Given the description of an element on the screen output the (x, y) to click on. 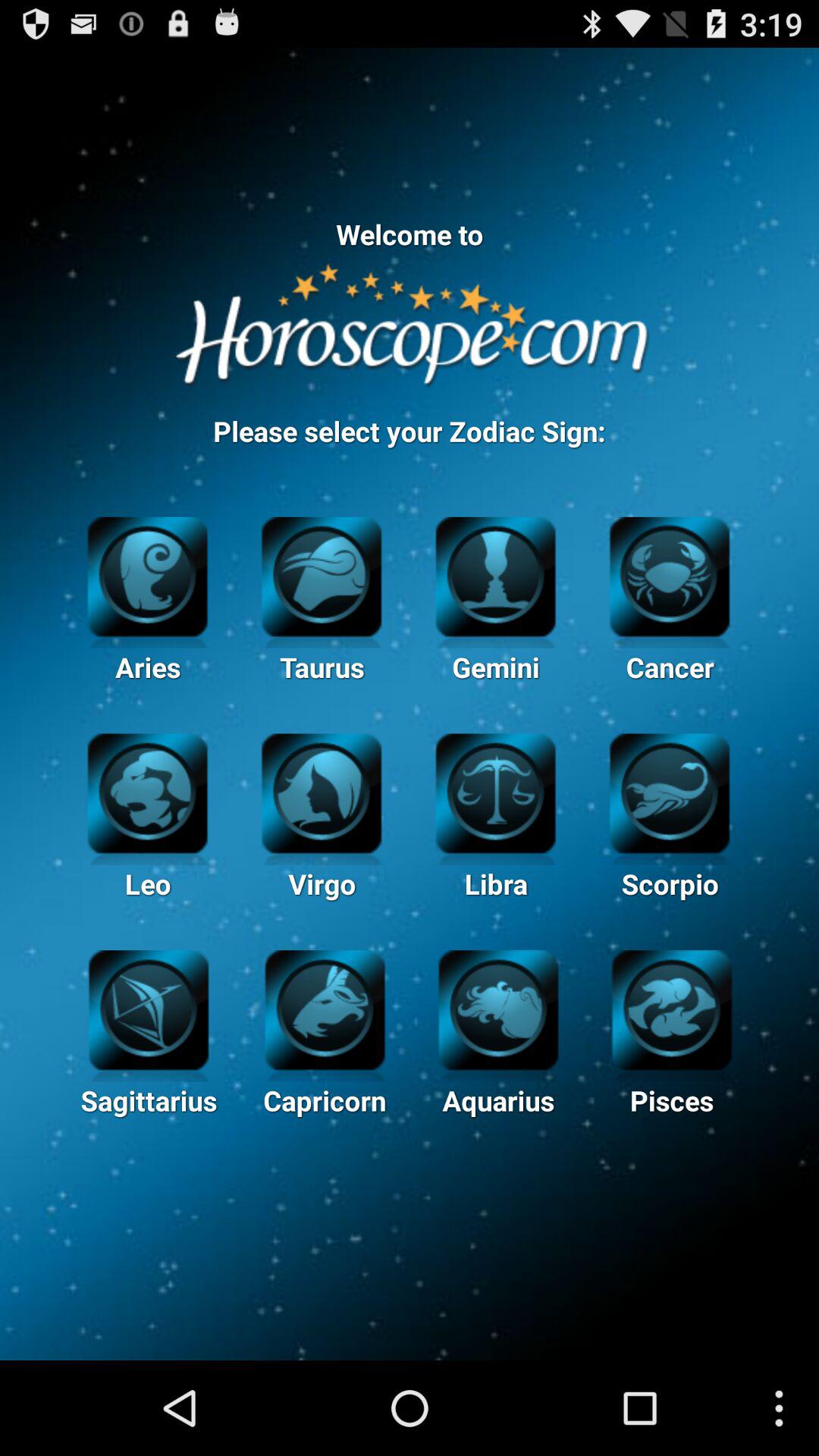
libra (495, 791)
